Given the description of an element on the screen output the (x, y) to click on. 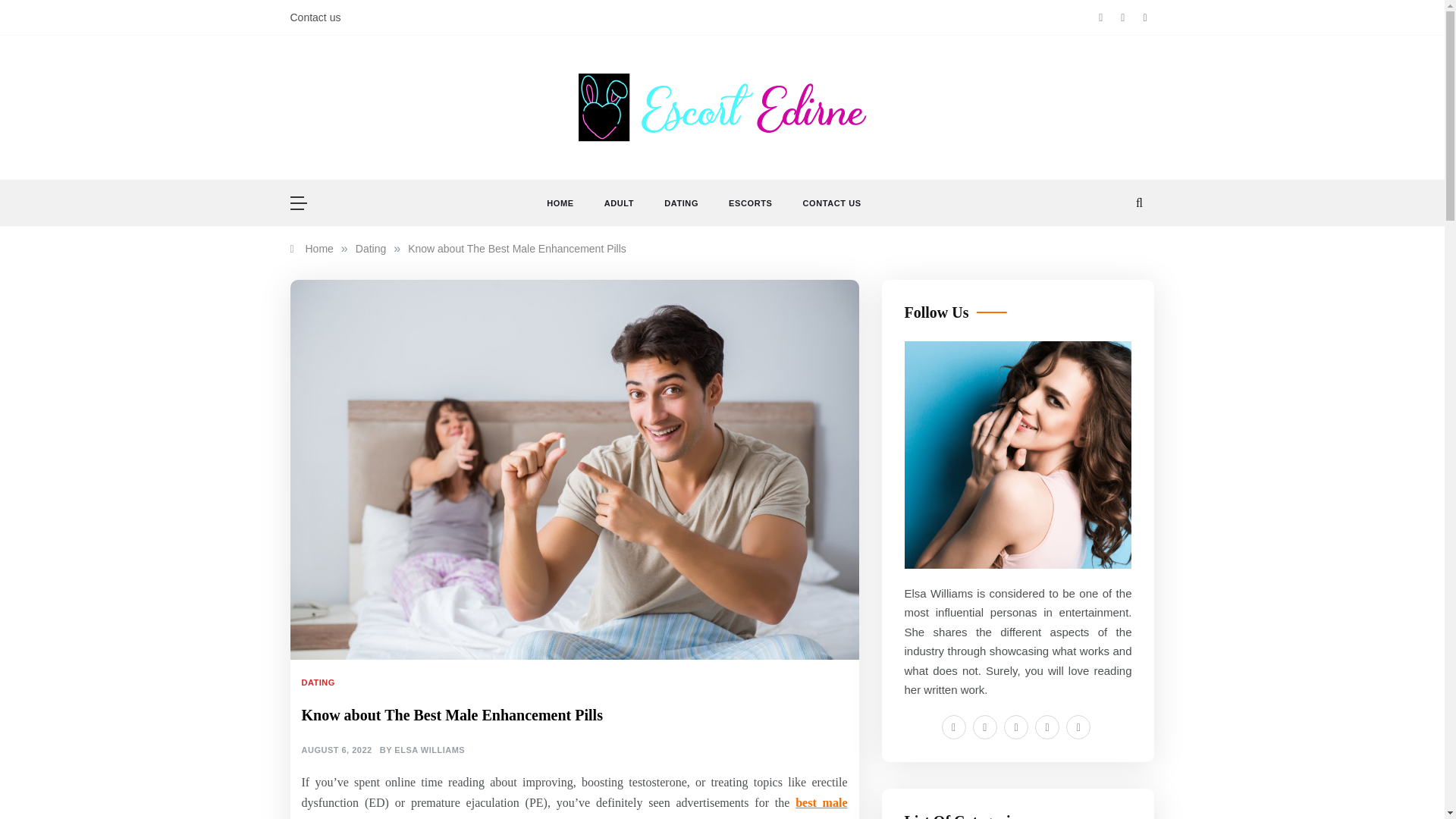
ADULT (619, 203)
CONTACT US (823, 203)
best male enhancement pills (574, 807)
HOME (567, 203)
Contact us (314, 17)
Home (311, 248)
Dating (370, 248)
ESCORTS (750, 203)
ELSA WILLIAMS (429, 750)
ESCORT EDIRNE (669, 154)
Know about The Best Male Enhancement Pills (516, 248)
DATING (681, 203)
facebook (954, 725)
AUGUST 6, 2022 (336, 750)
DATING (320, 682)
